Given the description of an element on the screen output the (x, y) to click on. 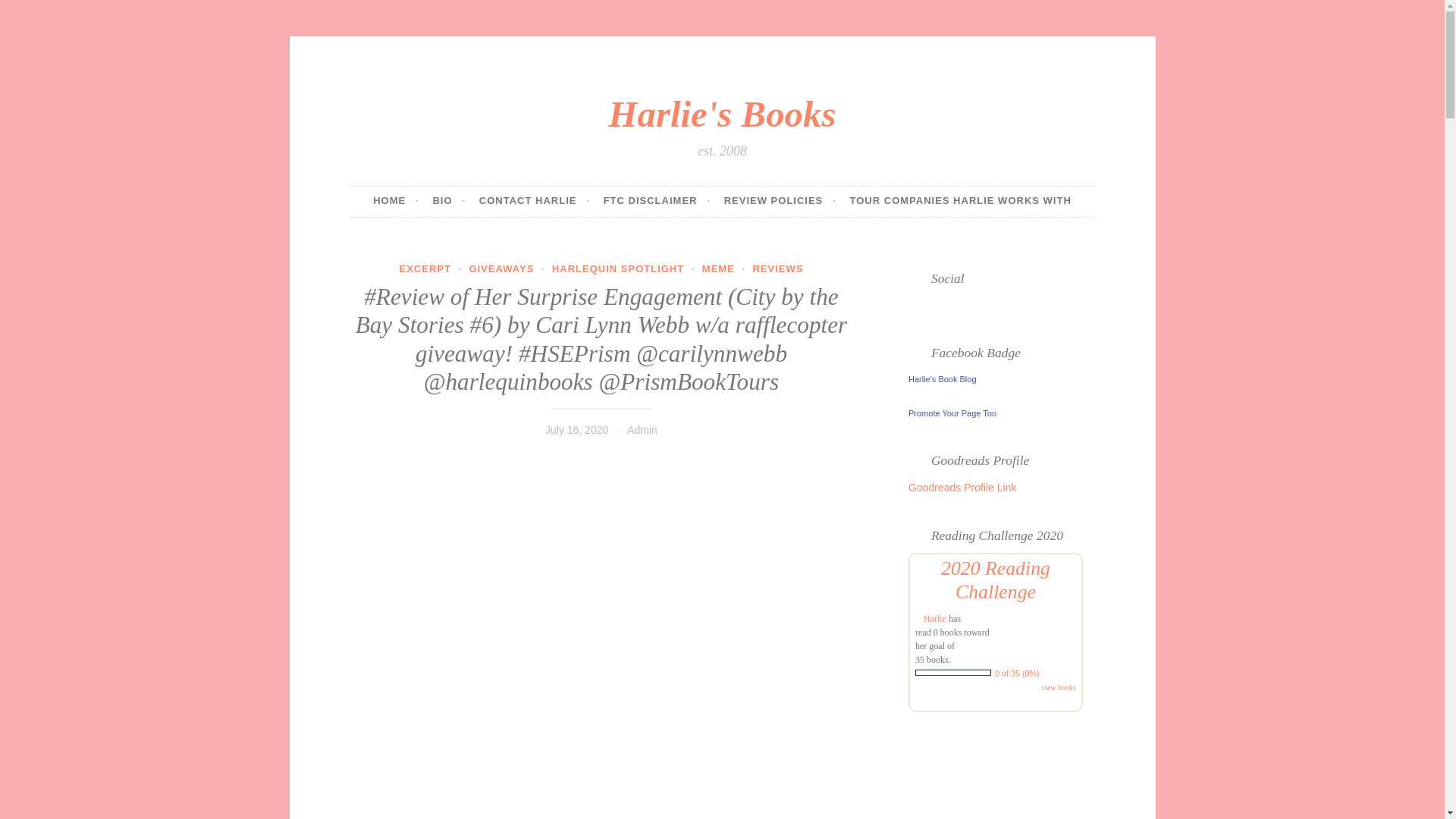
GIVEAWAYS (501, 268)
Make your own badge! (951, 412)
Admin (642, 429)
July 16, 2020 (576, 429)
MEME (718, 268)
BIO (448, 201)
TOUR COMPANIES HARLIE WORKS WITH (960, 201)
REVIEWS (777, 268)
CONTACT HARLIE (534, 201)
Harlie's Books (721, 114)
